Given the description of an element on the screen output the (x, y) to click on. 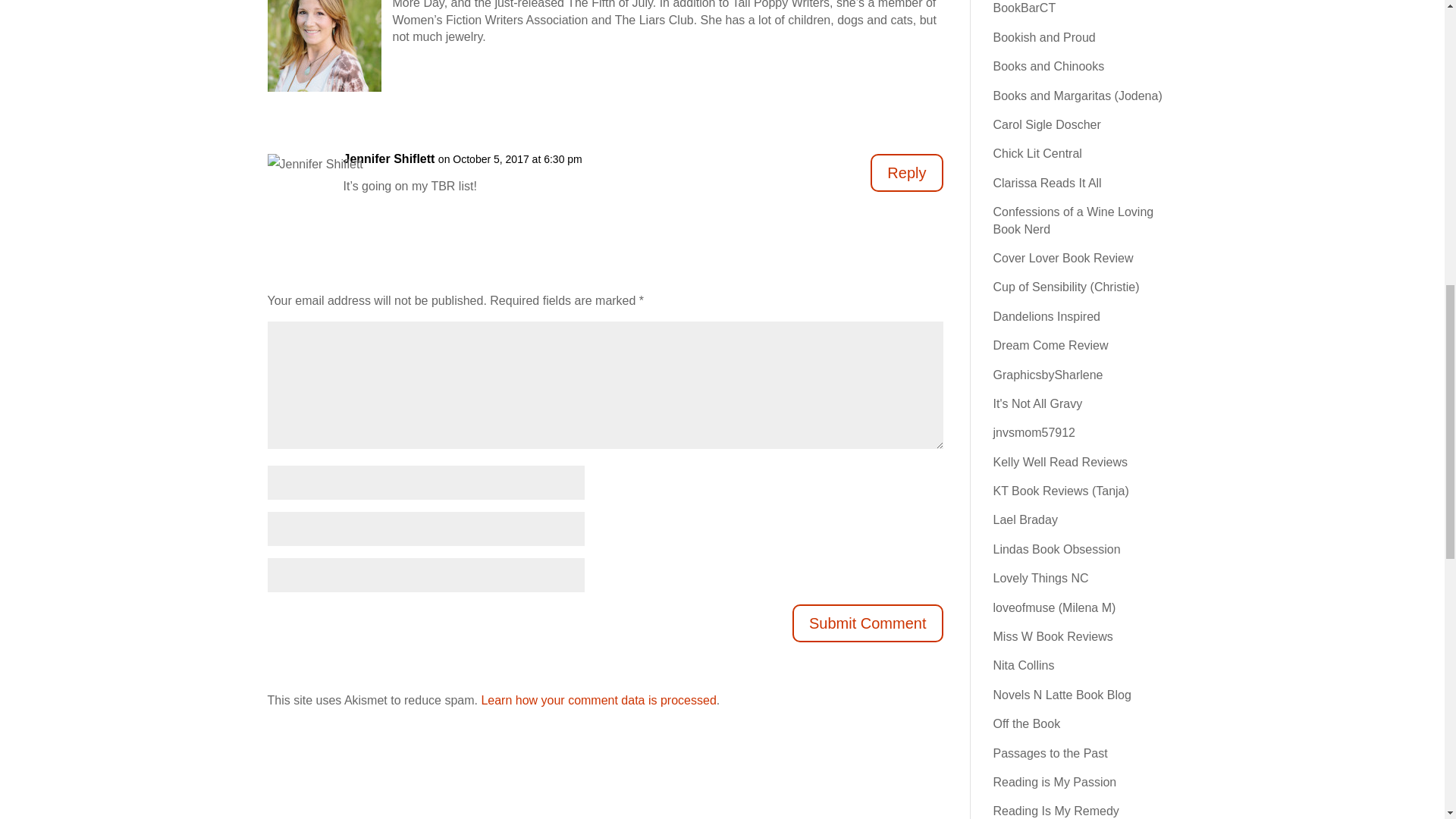
Reply (906, 172)
Submit Comment (867, 623)
Learn how your comment data is processed (598, 699)
Submit Comment (867, 623)
